Given the description of an element on the screen output the (x, y) to click on. 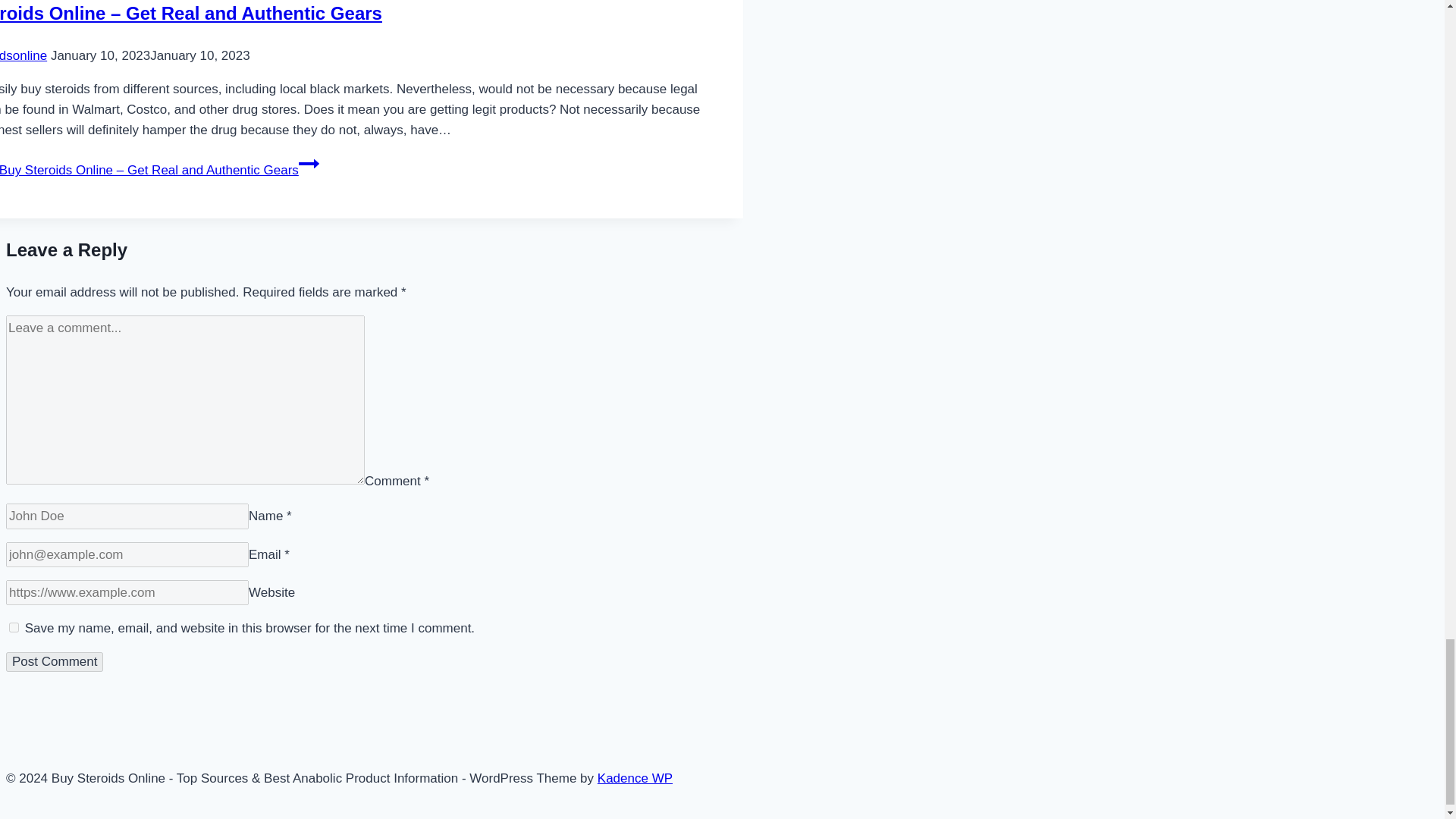
buysteroidsonline (23, 55)
yes (13, 627)
Post Comment (54, 661)
Continue (308, 163)
